Given the description of an element on the screen output the (x, y) to click on. 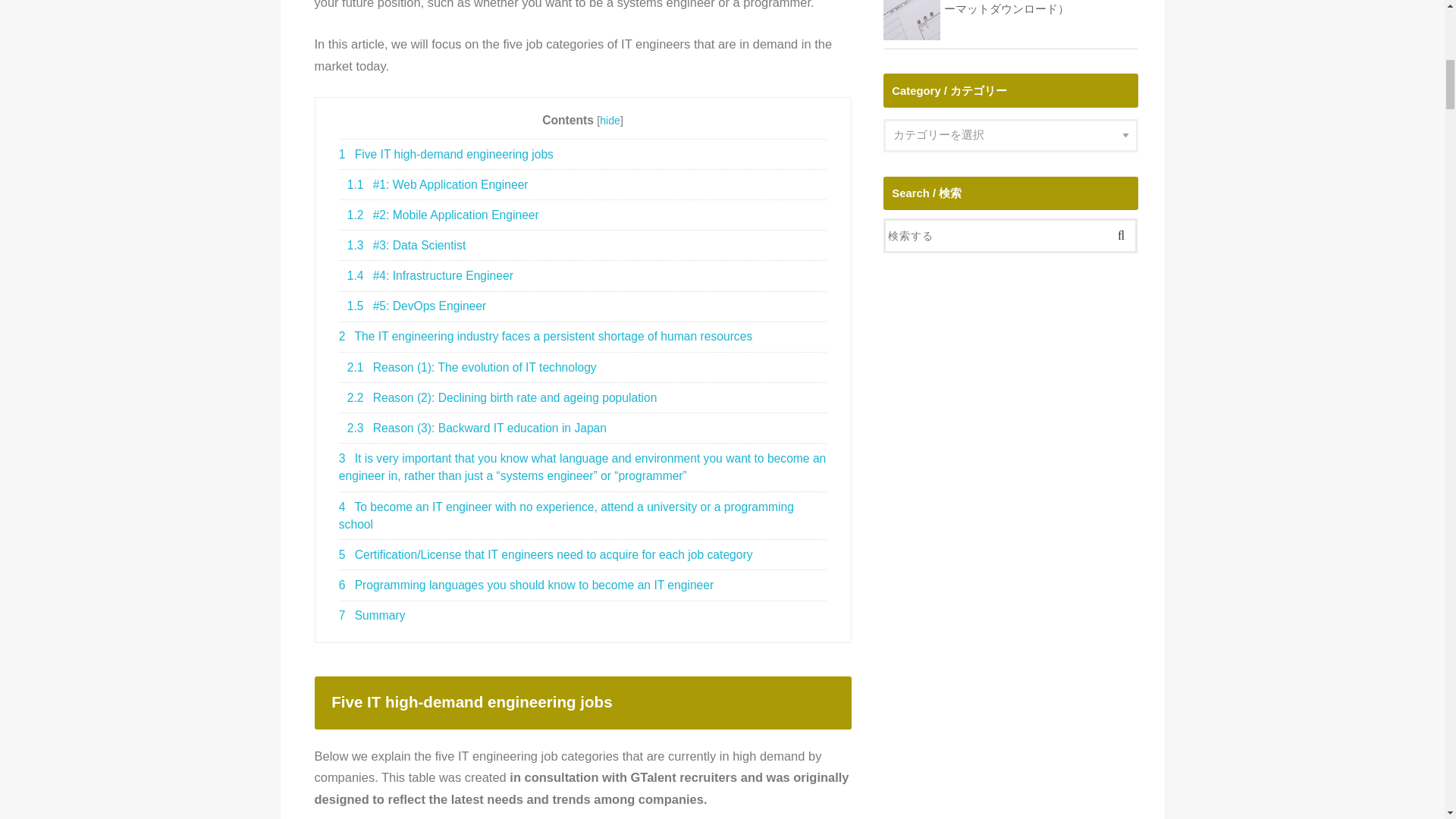
hide (609, 120)
1 Five IT high-demand engineering jobs (583, 153)
7 Summary (583, 615)
